Given the description of an element on the screen output the (x, y) to click on. 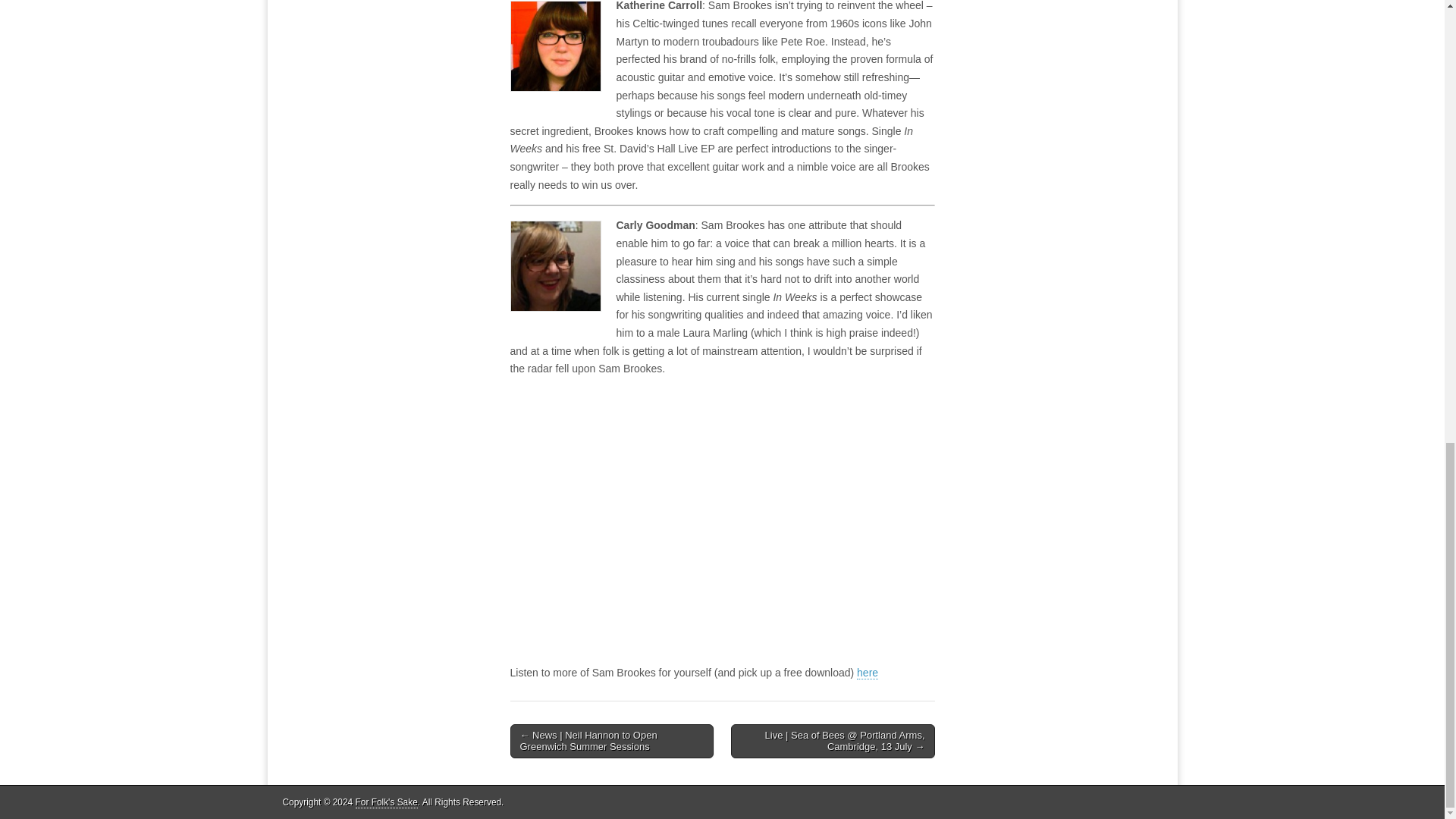
For Folk's Sake (386, 802)
Katherine (554, 45)
here (867, 672)
carly (554, 266)
